Given the description of an element on the screen output the (x, y) to click on. 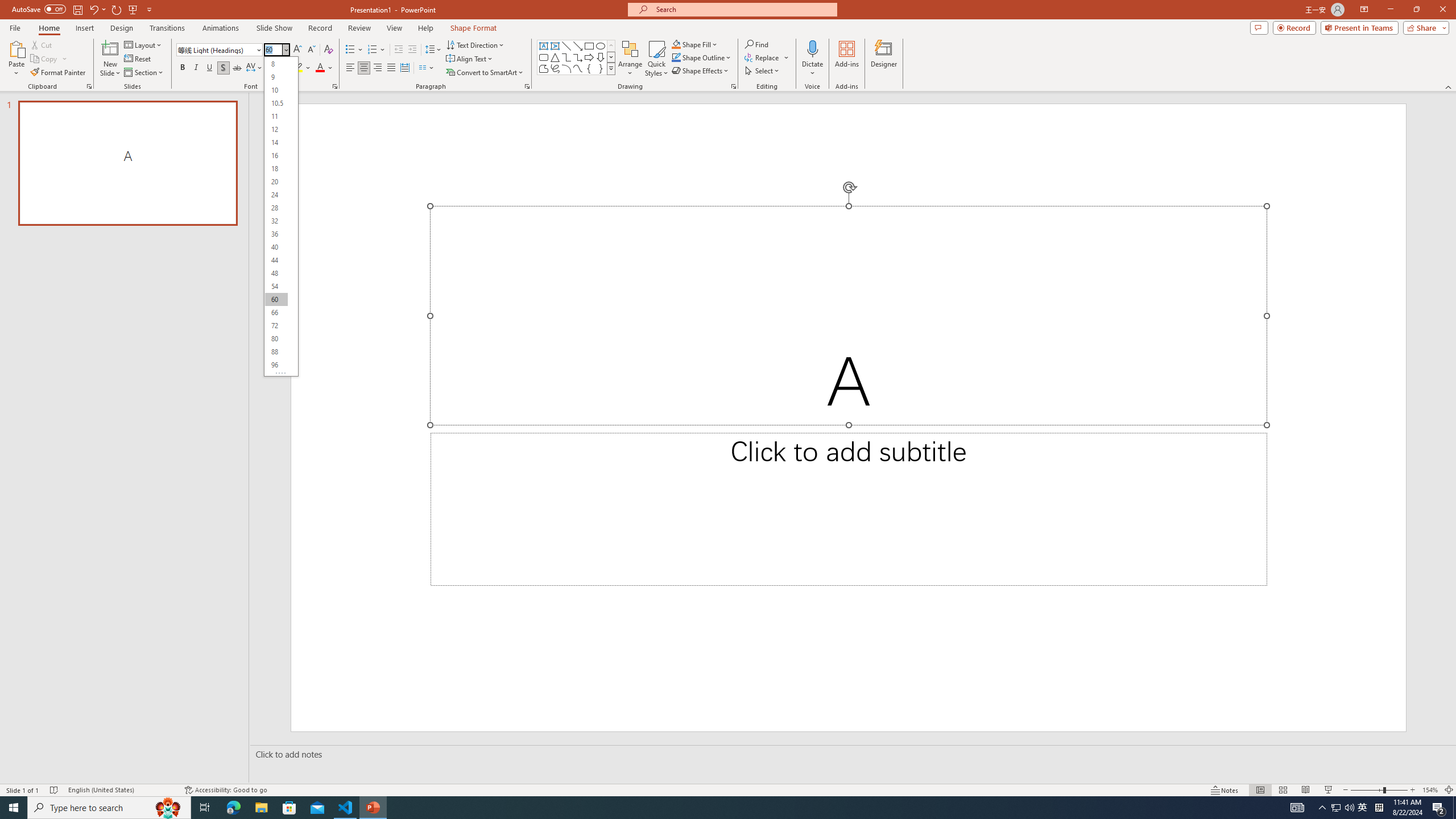
80 (276, 338)
48 (276, 273)
